Given the description of an element on the screen output the (x, y) to click on. 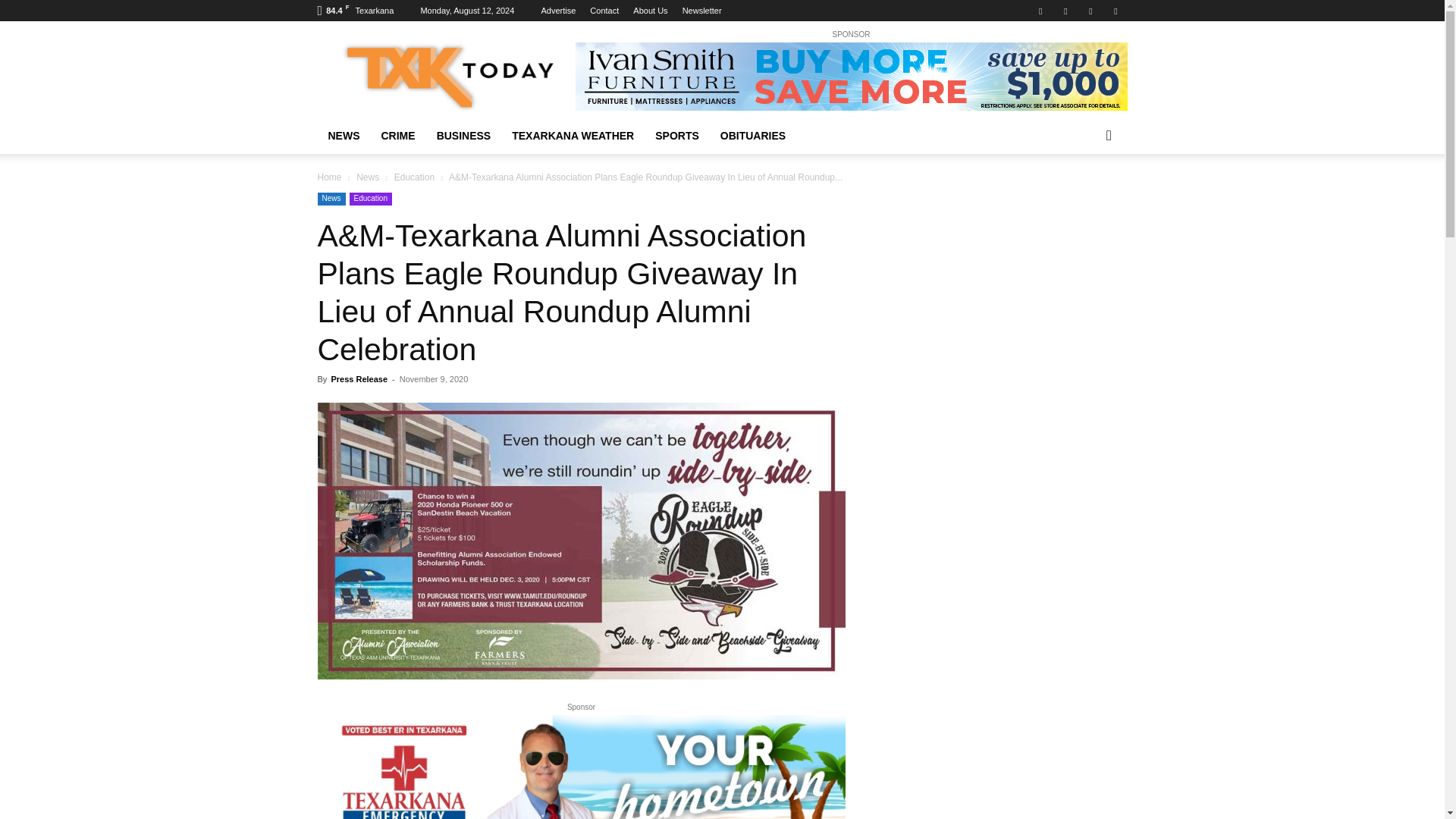
NEWS (343, 135)
SPORTS (677, 135)
Texarkana News (445, 76)
CRIME (397, 135)
Education (370, 198)
Search (1085, 196)
Advertise (557, 10)
Contact (603, 10)
About Us (649, 10)
